Given the description of an element on the screen output the (x, y) to click on. 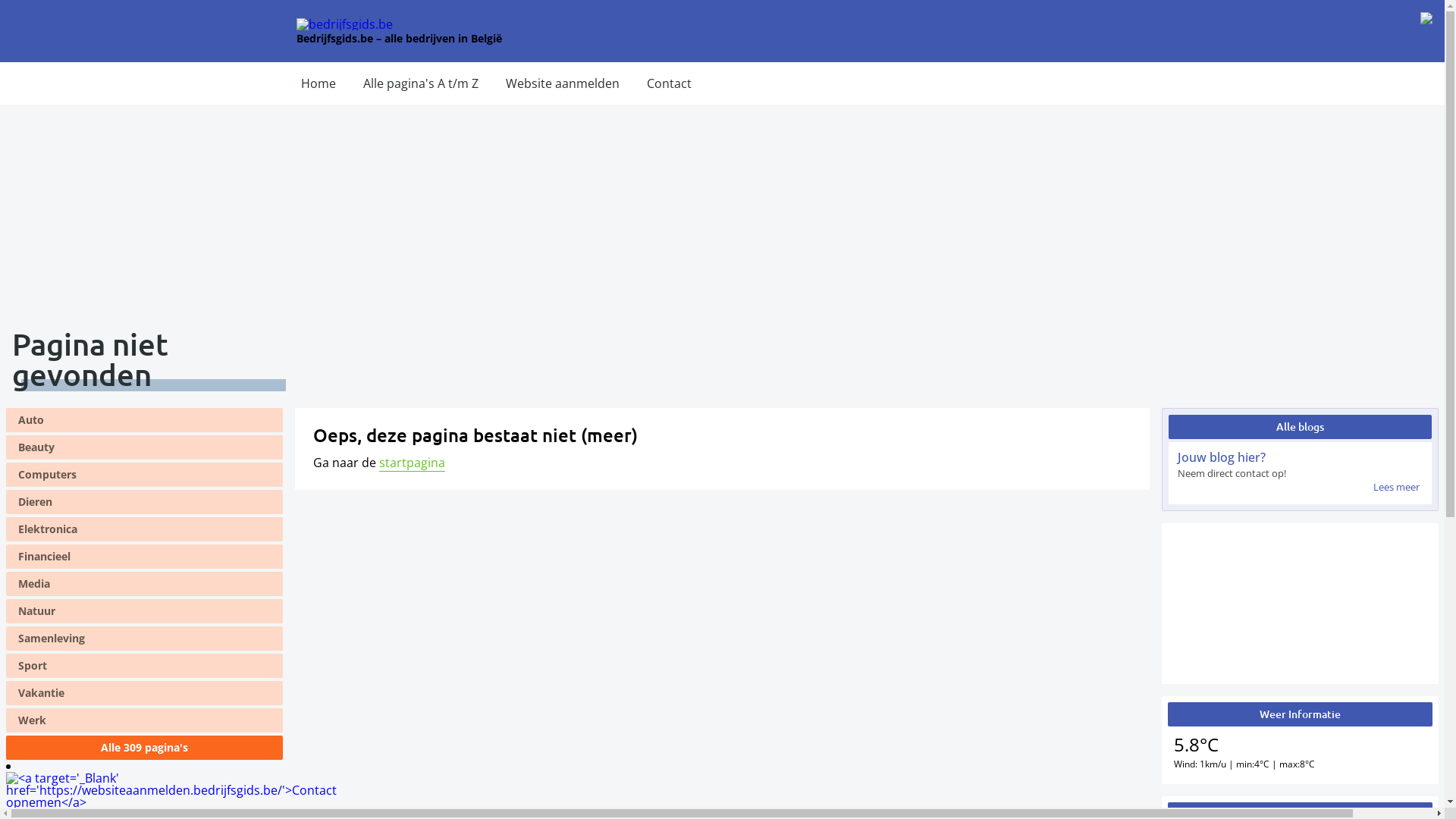
Sport Element type: text (144, 665)
Alle 309 pagina's Element type: text (144, 747)
Elektronica Element type: text (144, 529)
Media Element type: text (144, 583)
Dieren Element type: text (144, 501)
Website aanmelden Element type: text (562, 83)
startpagina Element type: text (412, 462)
Jouw blog hier?
Neem direct contact op!
Lees meer Element type: text (1299, 473)
Alle pagina's A t/m Z Element type: text (420, 83)
Computers Element type: text (144, 474)
Auto Element type: text (144, 419)
Home Element type: text (318, 83)
Samenleving Element type: text (144, 638)
Vakantie Element type: text (144, 692)
Beauty Element type: text (144, 447)
M&M WebMedia animatievideo Element type: hover (1299, 603)
Natuur Element type: text (144, 611)
Financieel Element type: text (144, 556)
Werk Element type: text (144, 720)
Contact Element type: text (668, 83)
